Given the description of an element on the screen output the (x, y) to click on. 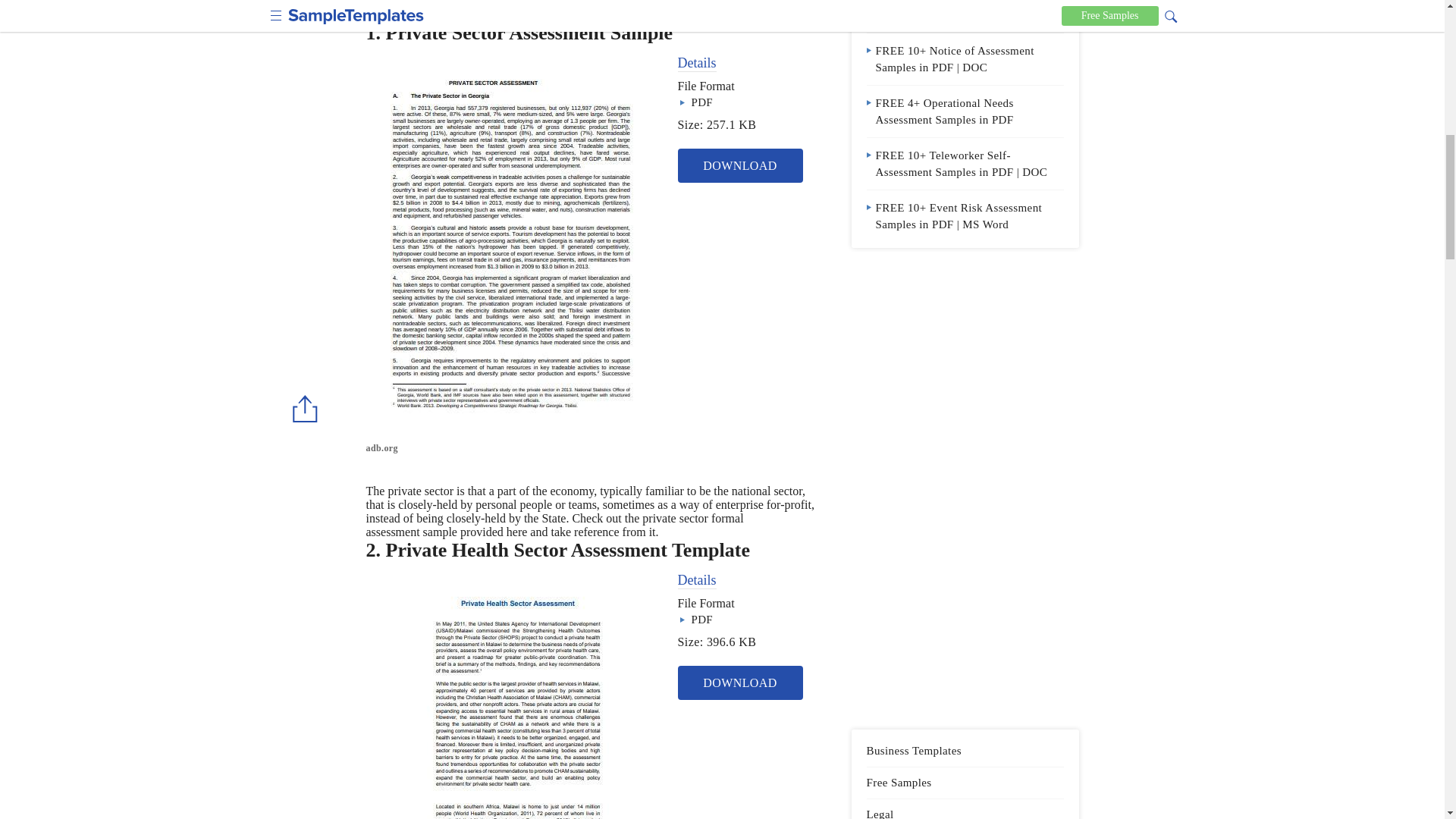
adb.org (515, 448)
DOWNLOAD (740, 165)
DOWNLOAD (740, 682)
